Given the description of an element on the screen output the (x, y) to click on. 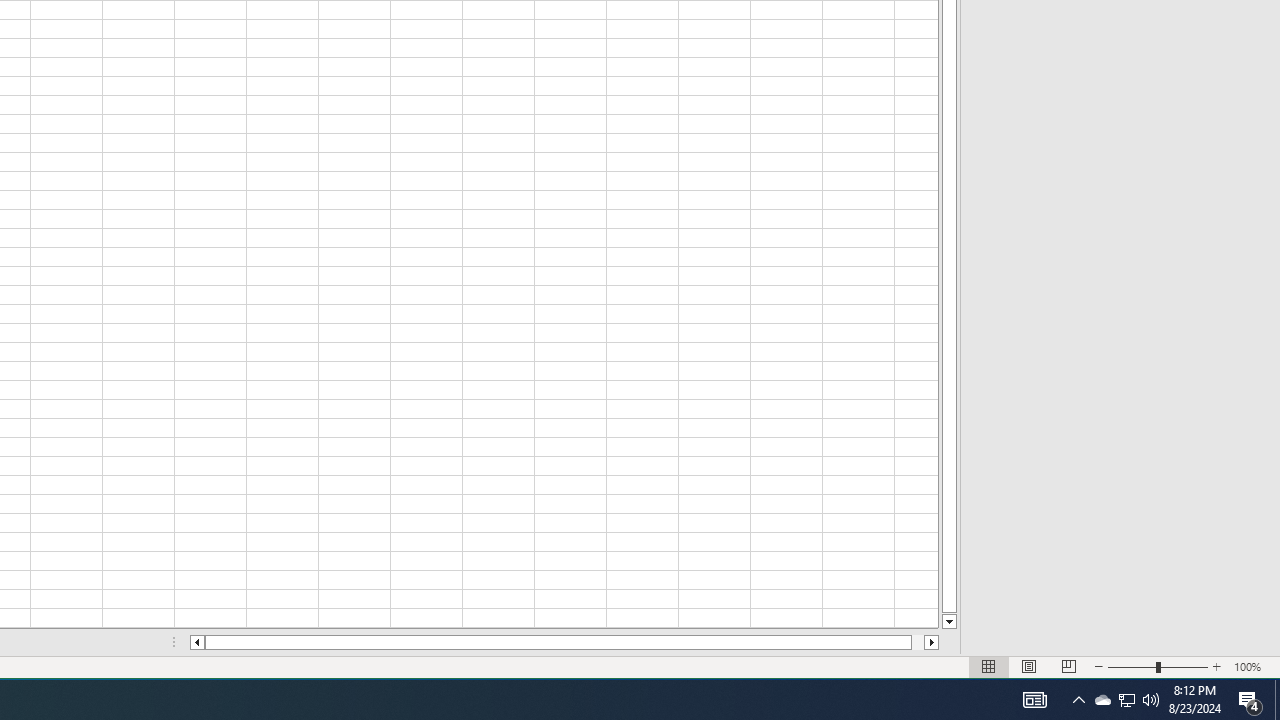
Action Center, 4 new notifications (1250, 699)
Show desktop (1277, 699)
